Given the description of an element on the screen output the (x, y) to click on. 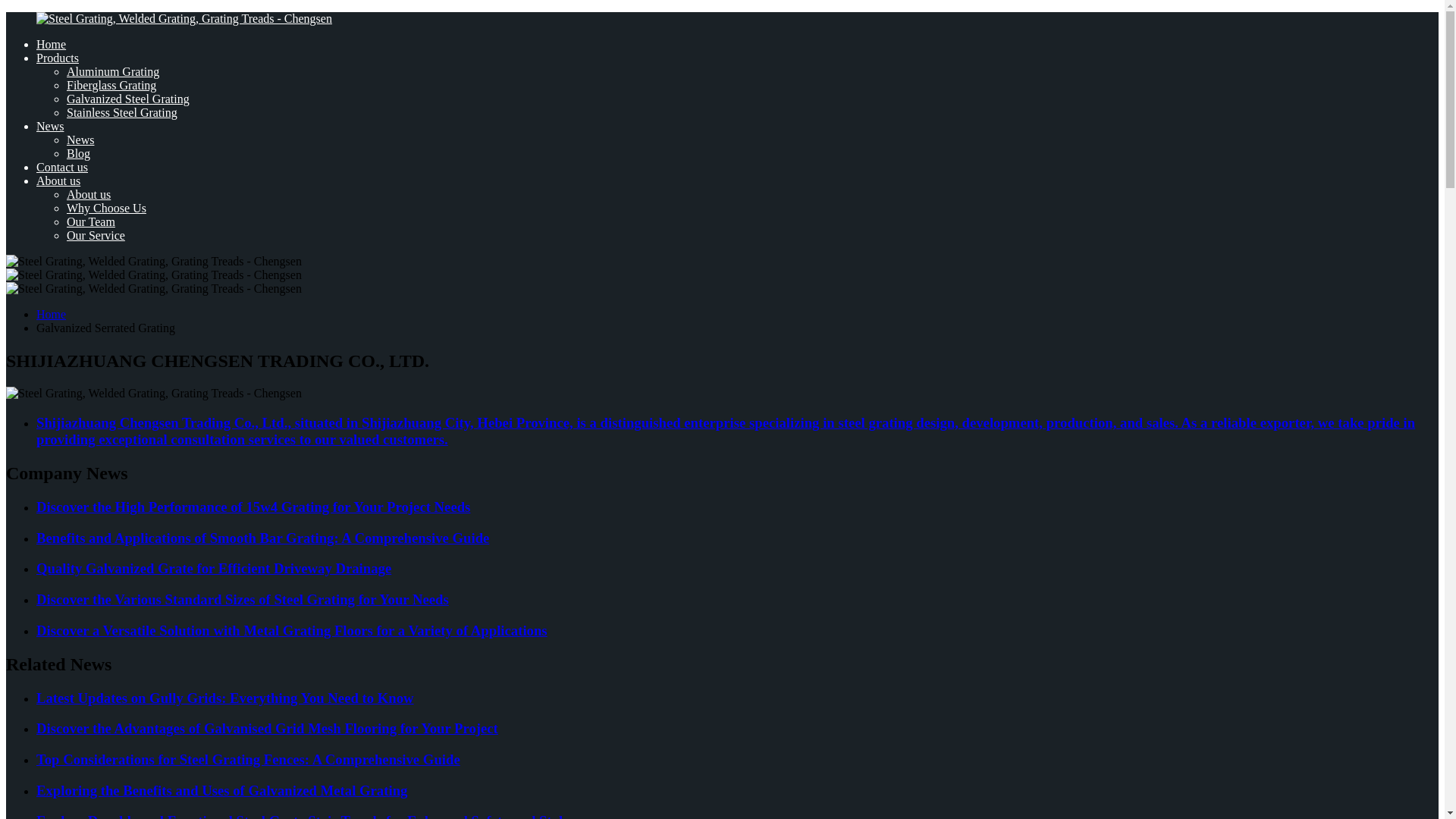
Home (50, 43)
Home (50, 314)
About us (88, 194)
Our Service (95, 235)
News (50, 125)
Our Team (90, 221)
Aluminum Grating (112, 71)
Fiberglass Grating (110, 84)
Products (57, 57)
Contact us (61, 166)
Galvanized Steel Grating (127, 98)
About us (58, 180)
News (80, 139)
Stainless Steel Grating (121, 112)
Blog (78, 153)
